Given the description of an element on the screen output the (x, y) to click on. 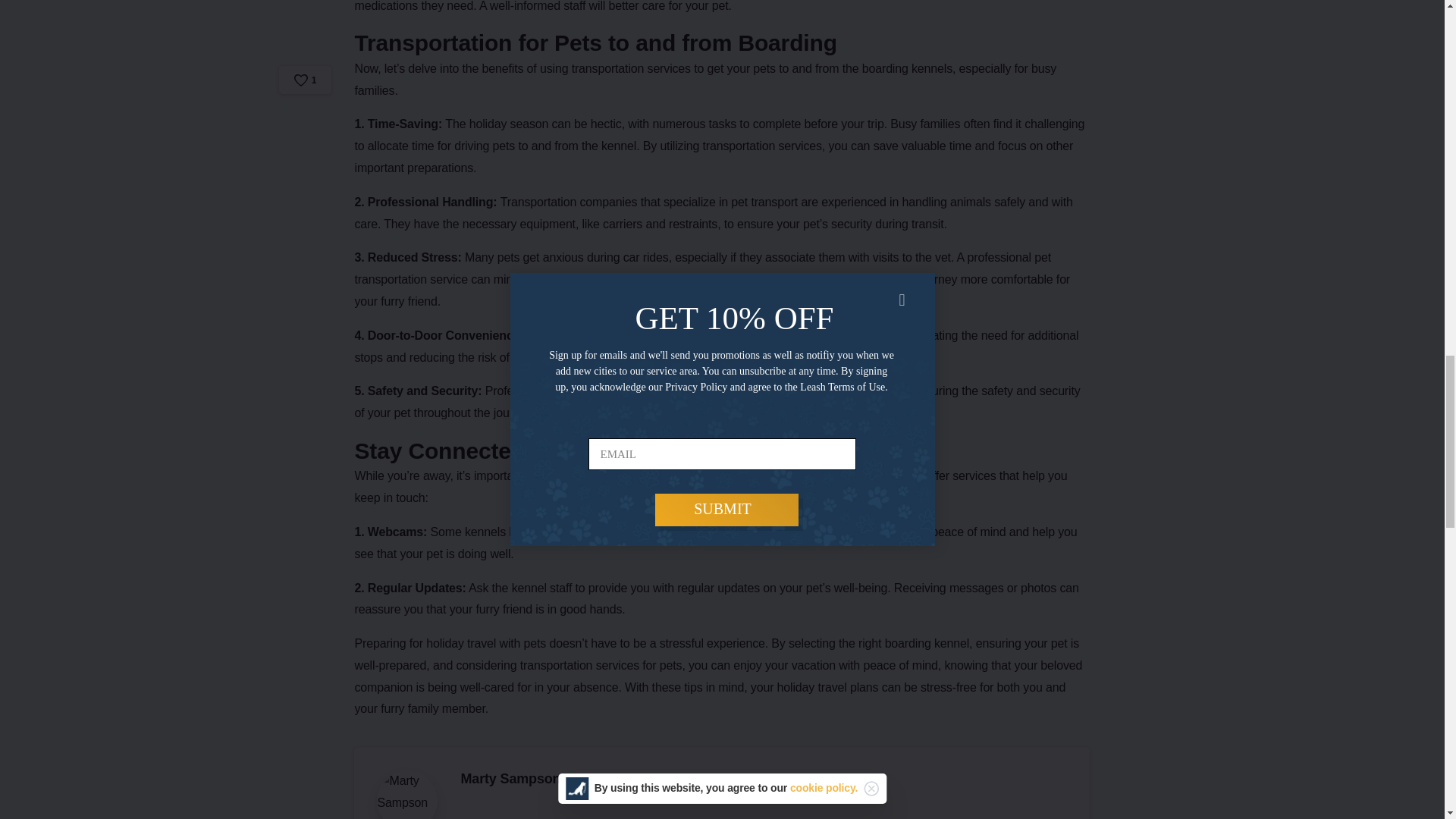
Marty Sampson (763, 778)
